Given the description of an element on the screen output the (x, y) to click on. 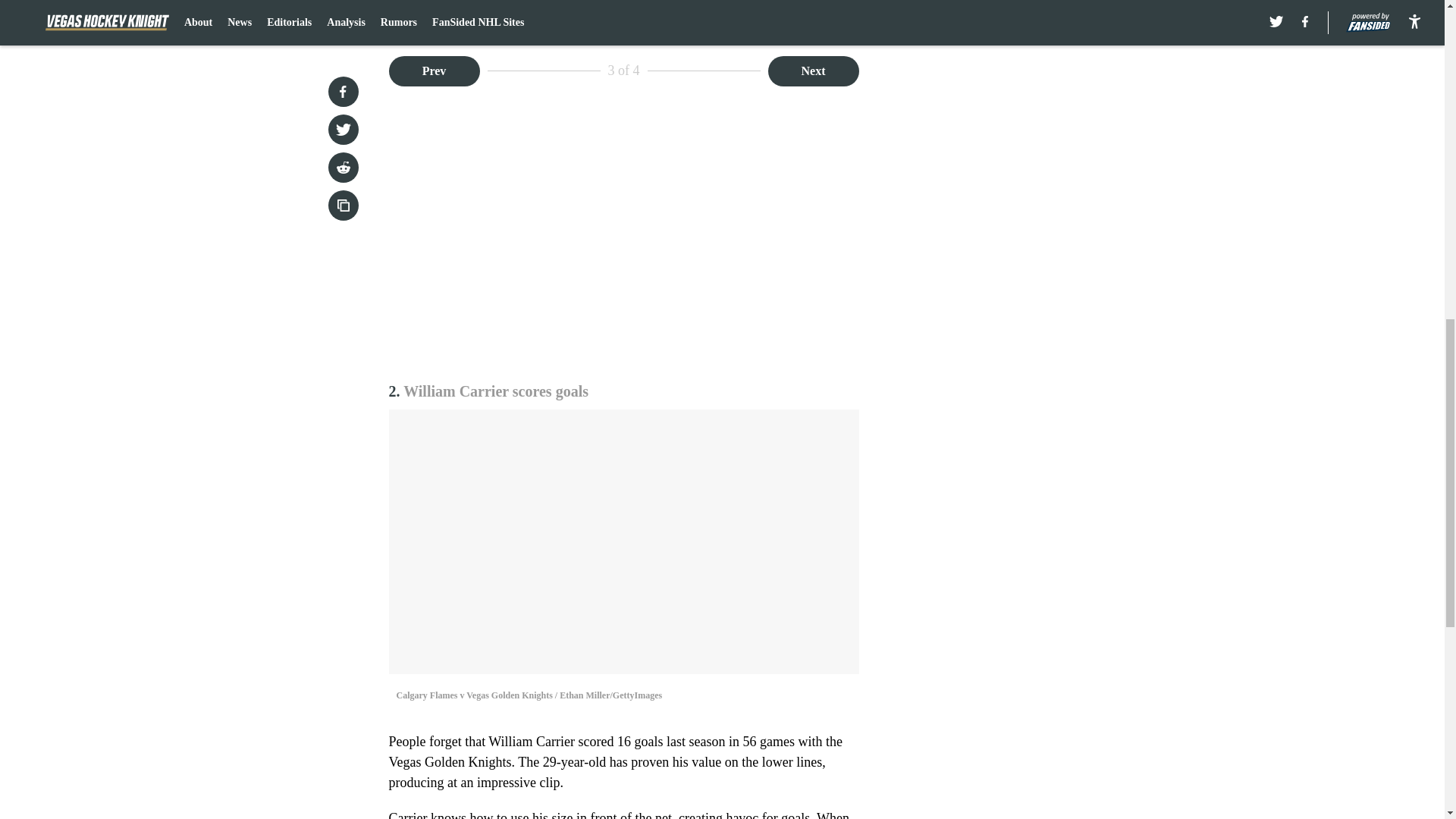
Prev (433, 71)
Next (813, 71)
